Given the description of an element on the screen output the (x, y) to click on. 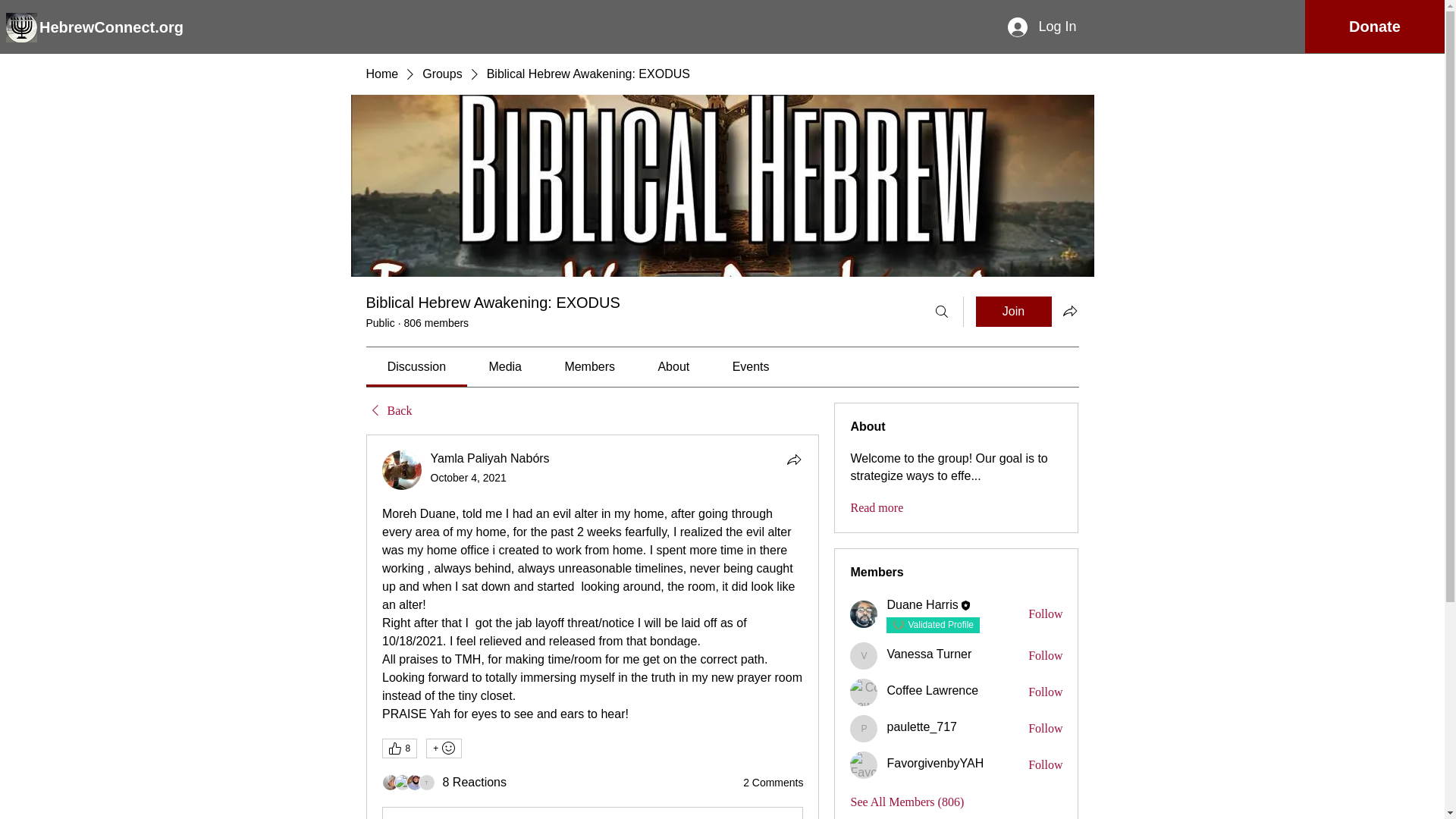
linda  (389, 782)
Join (1013, 311)
FavorgivenbyYAH (863, 764)
Home (381, 74)
Vanessa  Turner  (863, 655)
HebrewConnect.org (114, 26)
Groups (441, 74)
Coffee Lawrence (863, 691)
Bobby Hollow (414, 782)
Duane Harris (863, 614)
Log In (1041, 26)
Terra.Thompson (427, 782)
Cheryl Slaughter (402, 782)
